Given the description of an element on the screen output the (x, y) to click on. 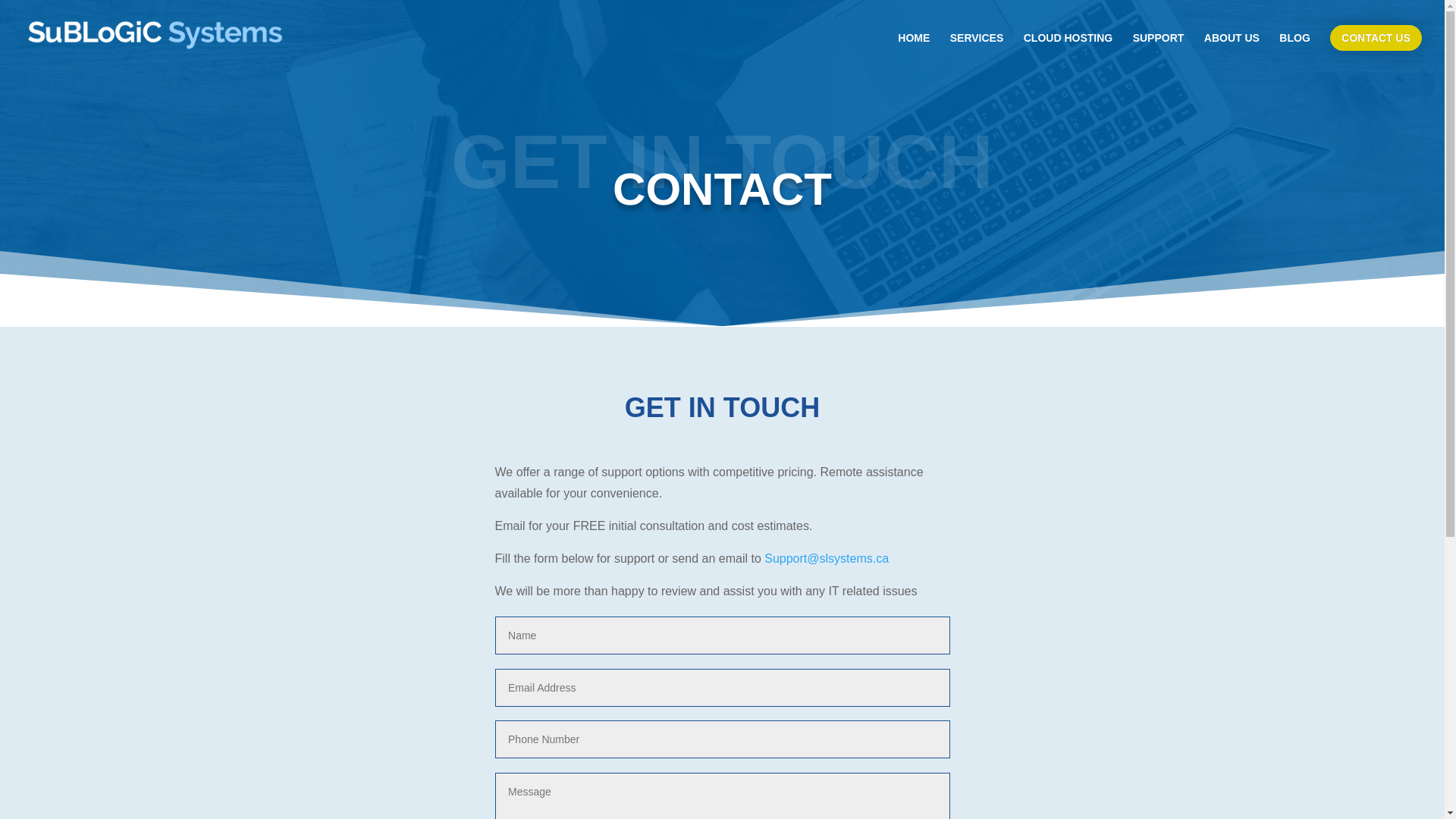
SERVICES (977, 49)
Only numbers allowed. (722, 739)
CONTACT US (1376, 37)
CLOUD HOSTING (1067, 49)
SUPPORT (1158, 49)
HOME (914, 49)
ABOUT US (1231, 49)
